Given the description of an element on the screen output the (x, y) to click on. 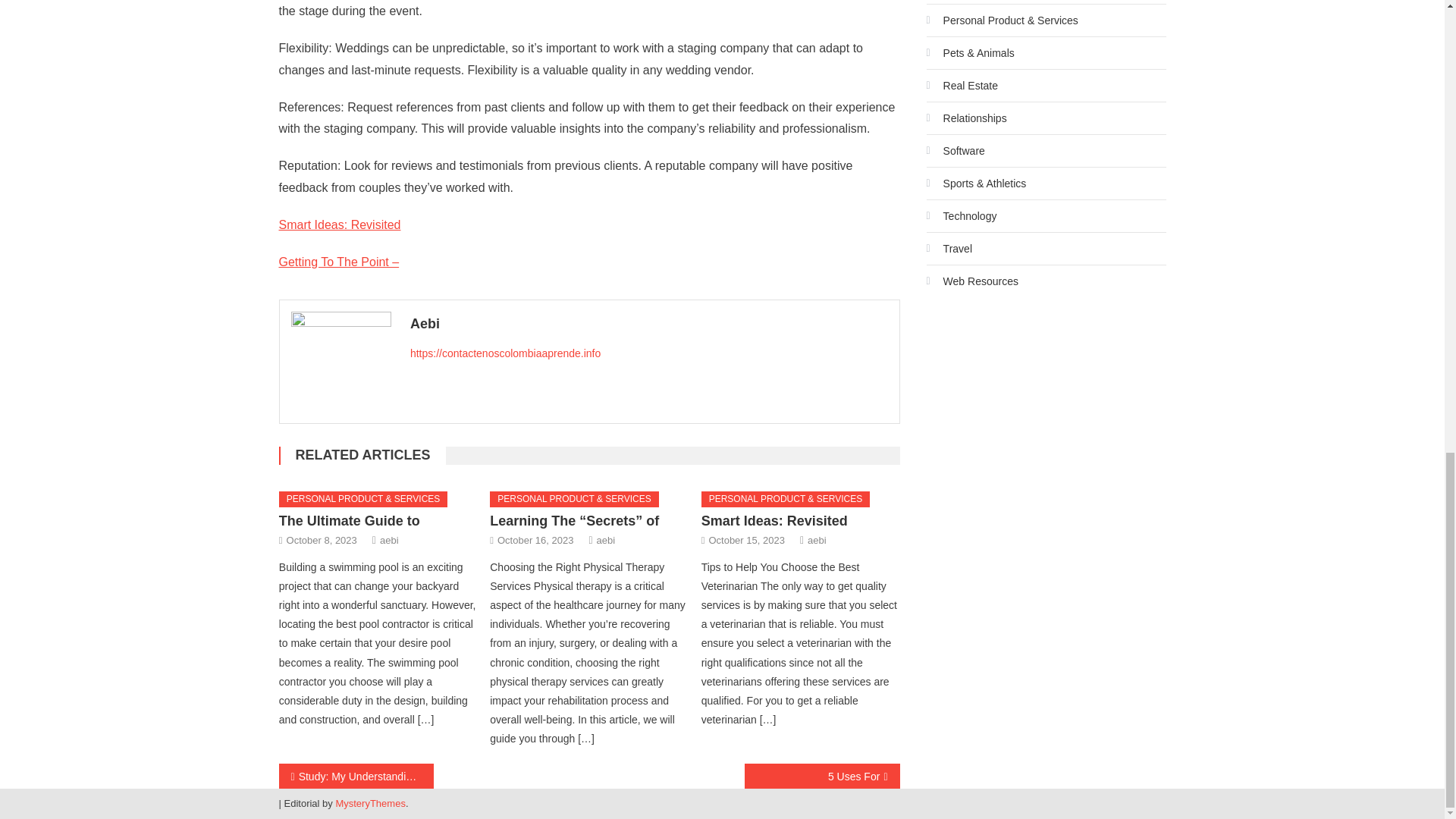
aebi (605, 539)
Study: My Understanding of (356, 775)
October 8, 2023 (321, 539)
October 15, 2023 (745, 539)
October 16, 2023 (535, 539)
The Ultimate Guide to (349, 520)
Aebi (649, 323)
Smart Ideas: Revisited (340, 224)
aebi (389, 539)
Smart Ideas: Revisited (774, 520)
5 Uses For (821, 775)
aebi (817, 539)
